Given the description of an element on the screen output the (x, y) to click on. 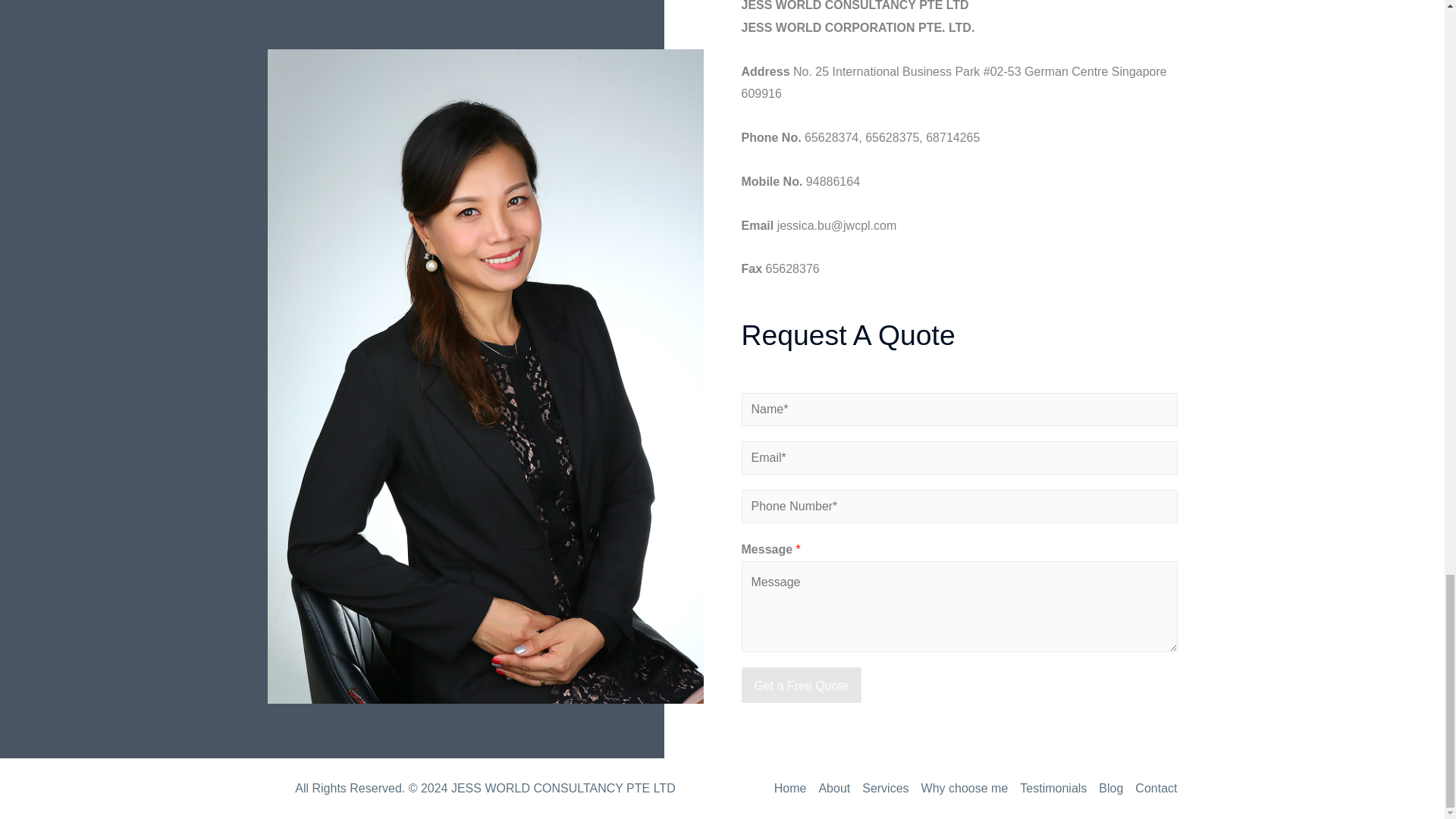
Why choose me (964, 788)
Services (885, 788)
Testimonials (1053, 788)
Get a Free Quote (801, 685)
About (834, 788)
Home (793, 788)
Blog (1111, 788)
Contact (1152, 788)
